Given the description of an element on the screen output the (x, y) to click on. 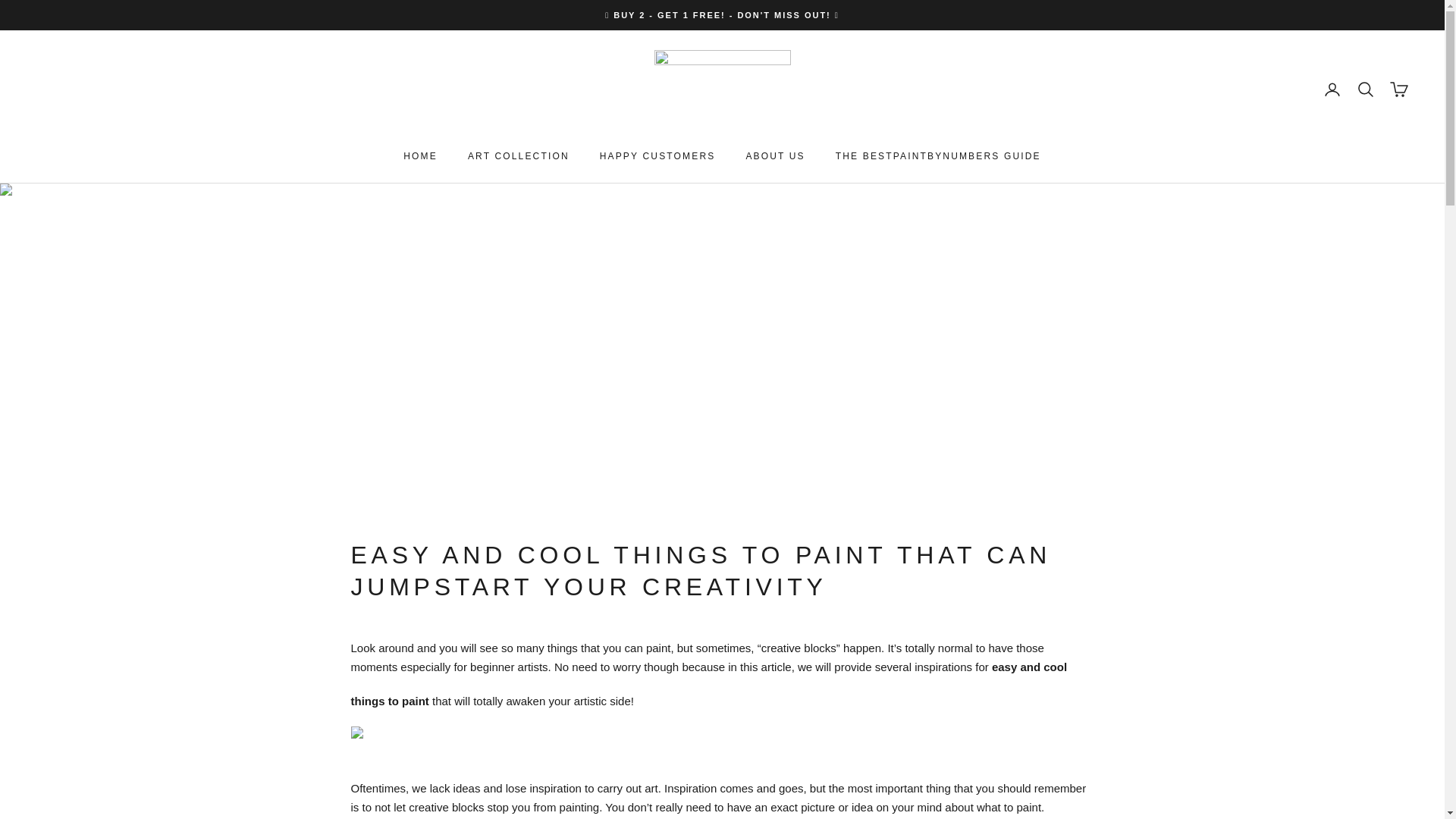
ART COLLECTION (518, 155)
Open account page (1331, 89)
HOME (420, 155)
HAPPY CUSTOMERS (657, 155)
THE BESTPAINTBYNUMBERS GUIDE (938, 155)
ABOUT US (775, 155)
Open search (1365, 89)
BestPaintByNumbers (721, 89)
Open cart (1398, 89)
